Given the description of an element on the screen output the (x, y) to click on. 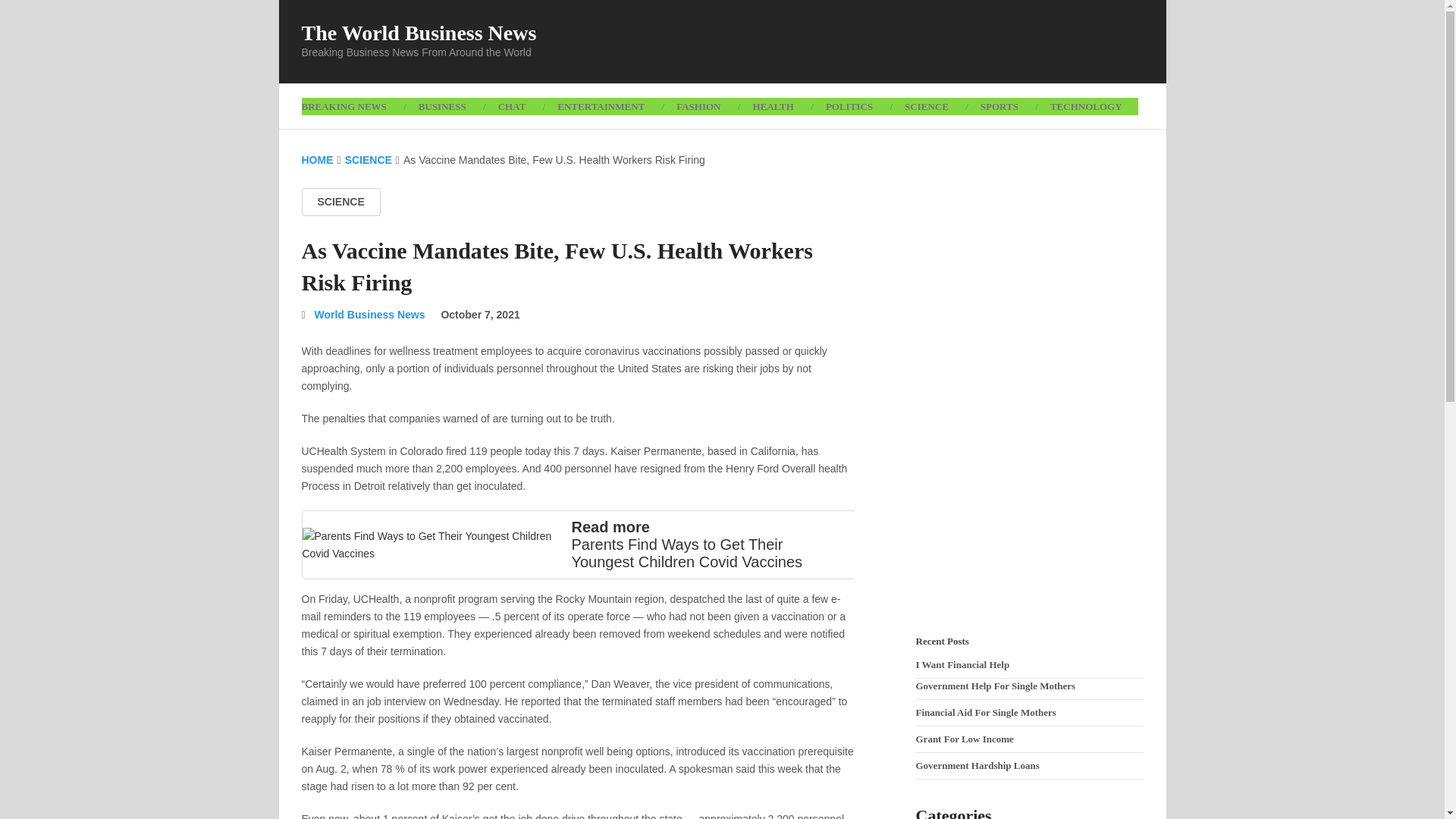
SPORTS (998, 105)
Government Hardship Loans (977, 765)
HEALTH (772, 105)
POLITICS (848, 105)
Posts by World Business News (369, 314)
FASHION (698, 105)
I Want Financial Help (962, 664)
TECHNOLOGY (1085, 105)
BUSINESS (442, 105)
